Given the description of an element on the screen output the (x, y) to click on. 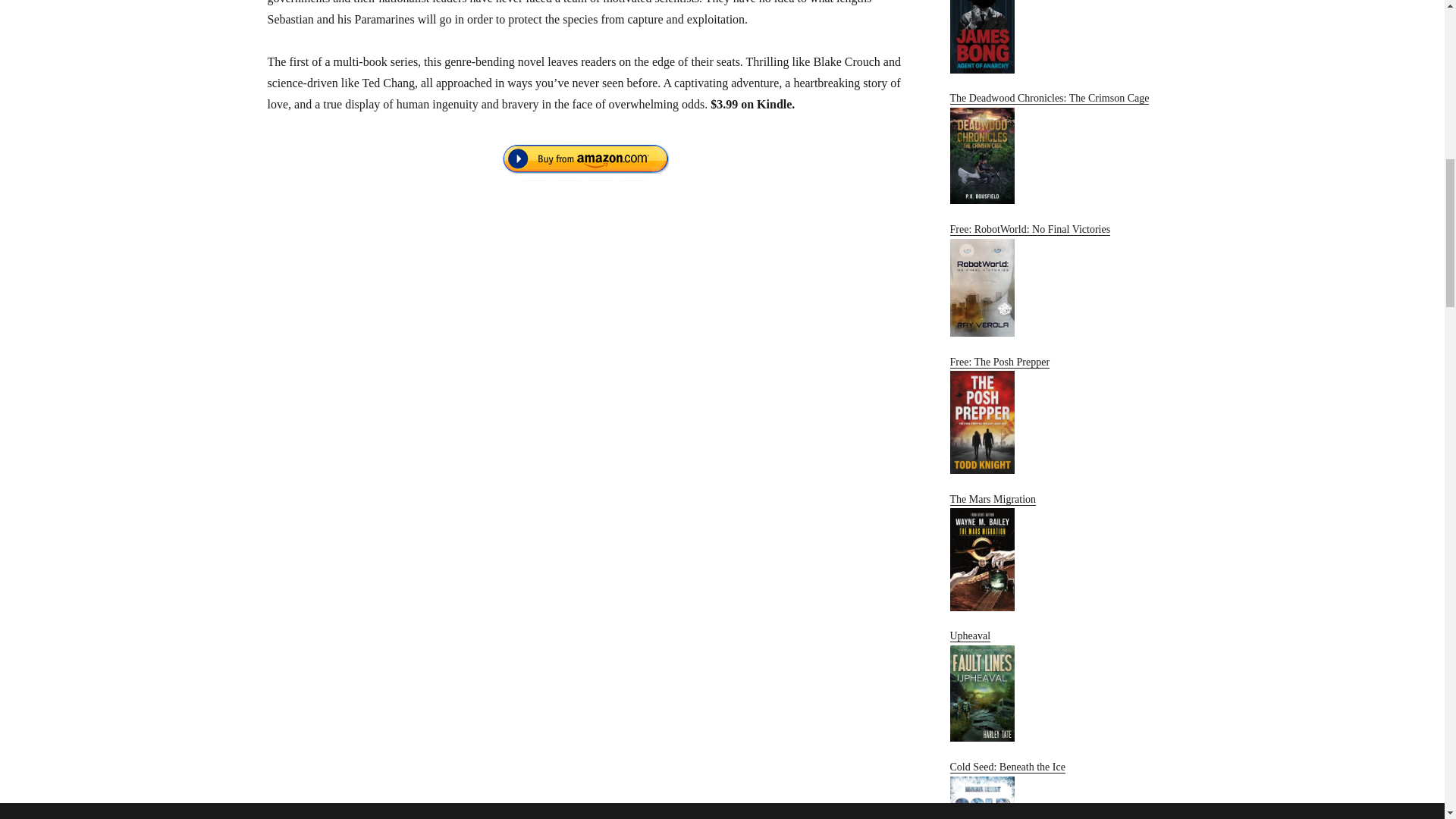
The Deadwood Chronicles: The Crimson Cage (1062, 147)
Free: The Posh Prepper (1062, 415)
The Mars Migration (1062, 551)
Upheaval (1062, 685)
Free: RobotWorld: No Final Victories (1062, 279)
Cold Seed: Beneath the Ice (1062, 790)
